Given the description of an element on the screen output the (x, y) to click on. 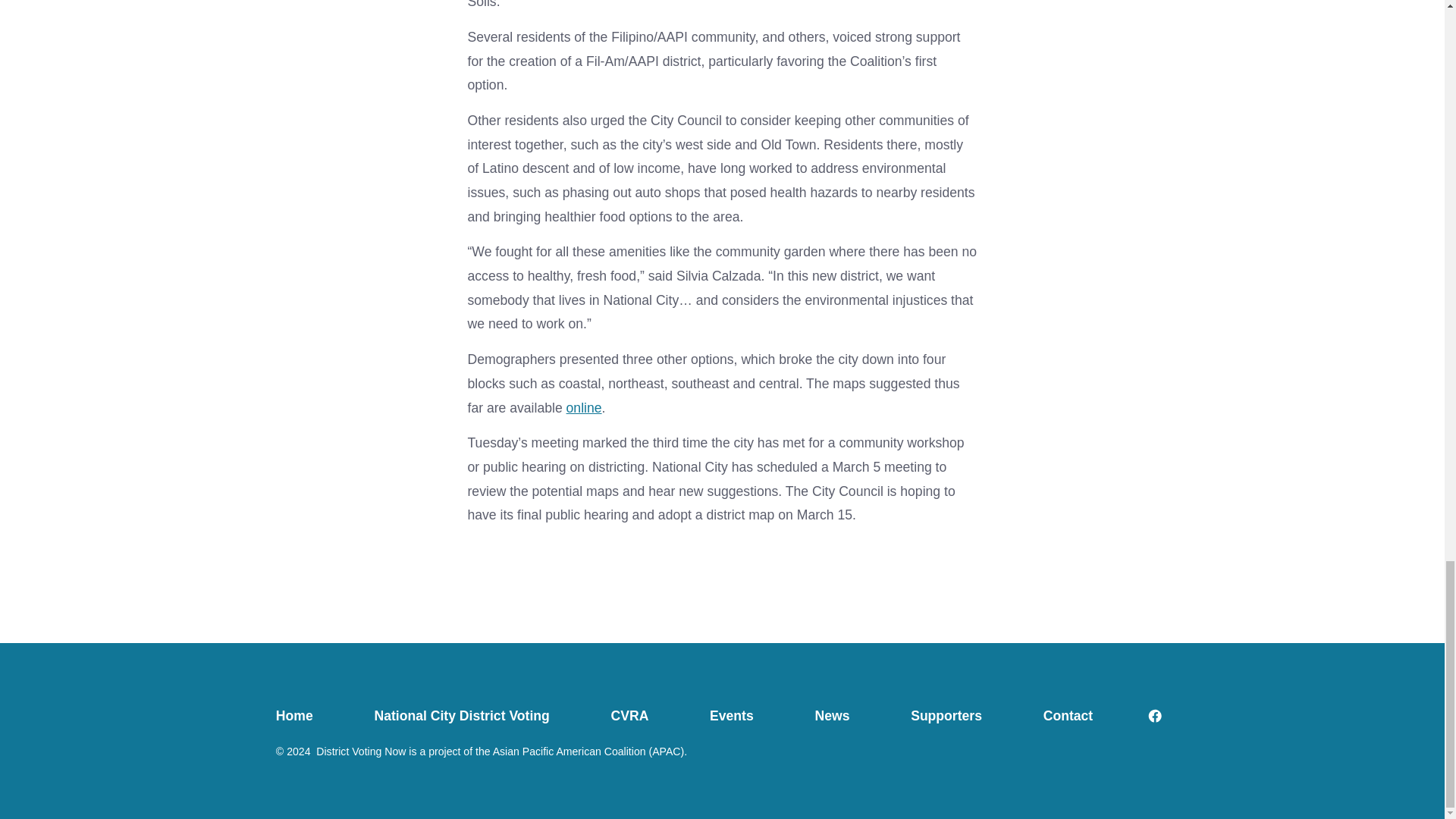
Supporters (946, 716)
online (584, 407)
CVRA (629, 716)
Home (309, 716)
News (832, 716)
National City District Voting (461, 716)
Events (732, 716)
Contact (1067, 716)
Open Facebook in a new tab (1155, 715)
